Given the description of an element on the screen output the (x, y) to click on. 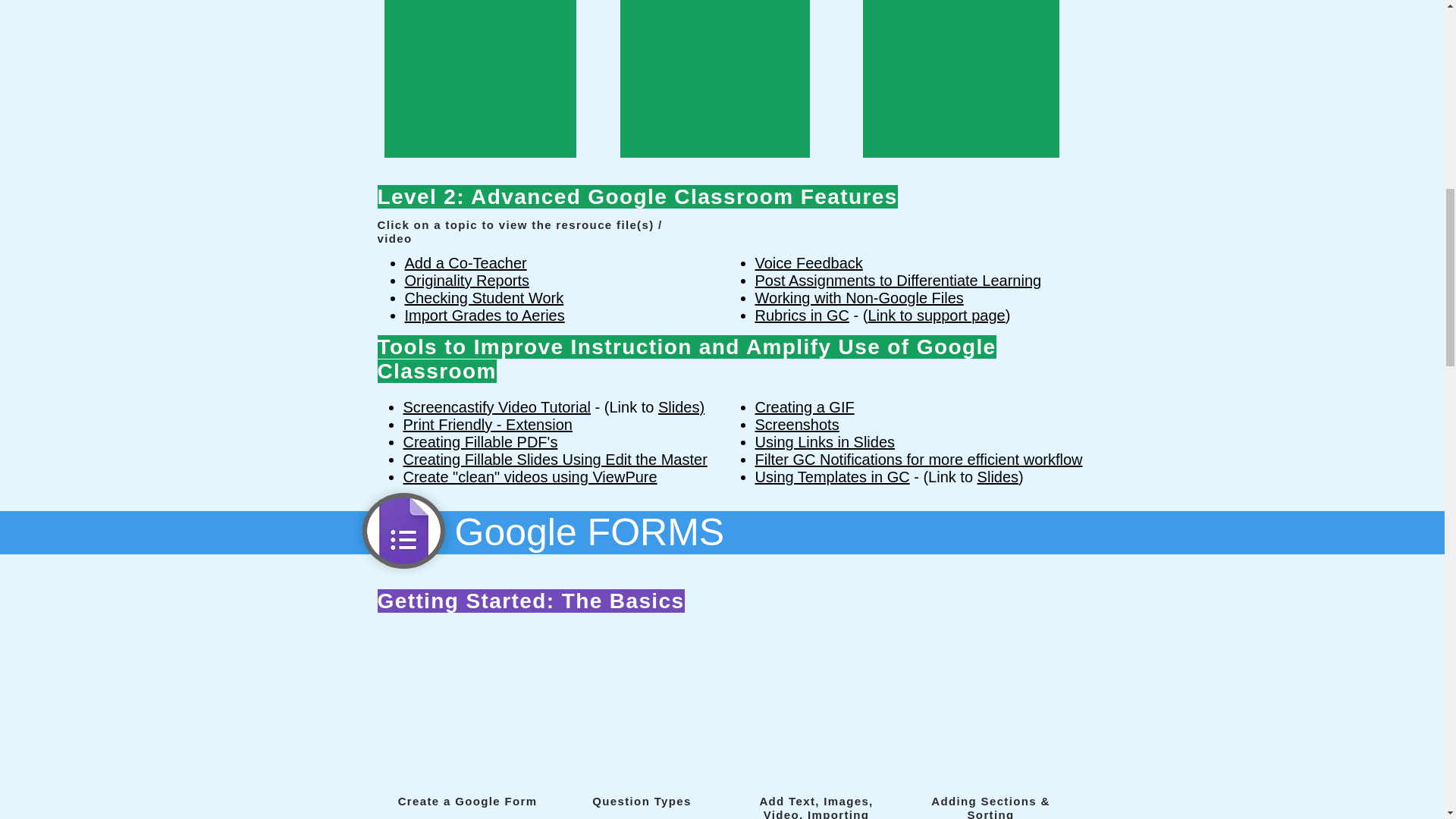
Add a Co-Teacher (465, 262)
Post Assignments to Differentiate Learning (898, 280)
Rubrics in GC (801, 315)
Create "clean" videos using ViewPure (530, 476)
Using Links in Slides (825, 442)
Voice Feedback (809, 262)
Working with Non-Google Files (859, 297)
External YouTube (714, 78)
Creating Fillable Slides Using Edit the Master (555, 459)
Screenshots (797, 424)
